Given the description of an element on the screen output the (x, y) to click on. 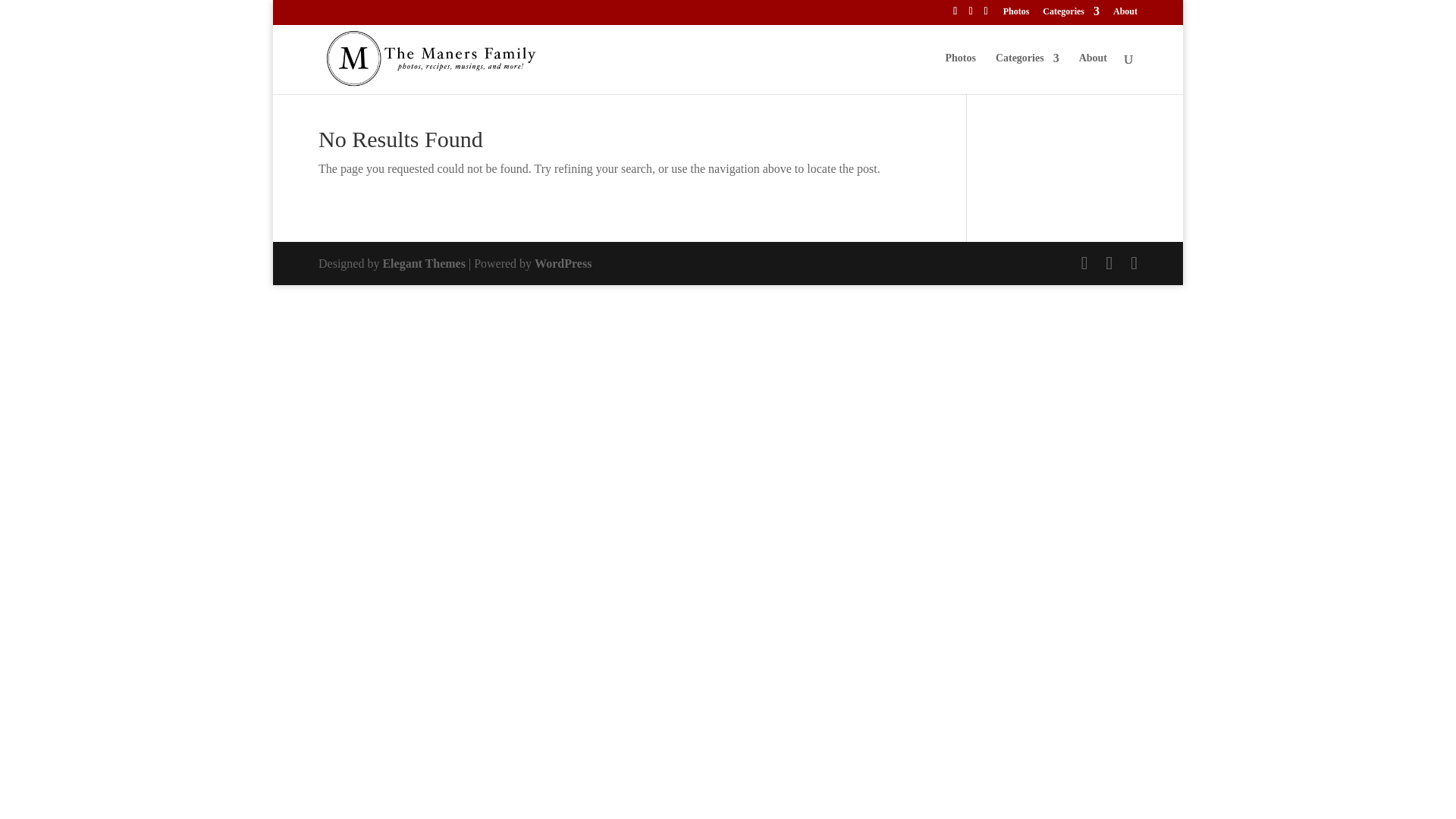
Categories (1027, 73)
Premium WordPress Themes (422, 263)
WordPress (562, 263)
Elegant Themes (422, 263)
About (1125, 14)
Categories (1070, 14)
Photos (1016, 14)
